Given the description of an element on the screen output the (x, y) to click on. 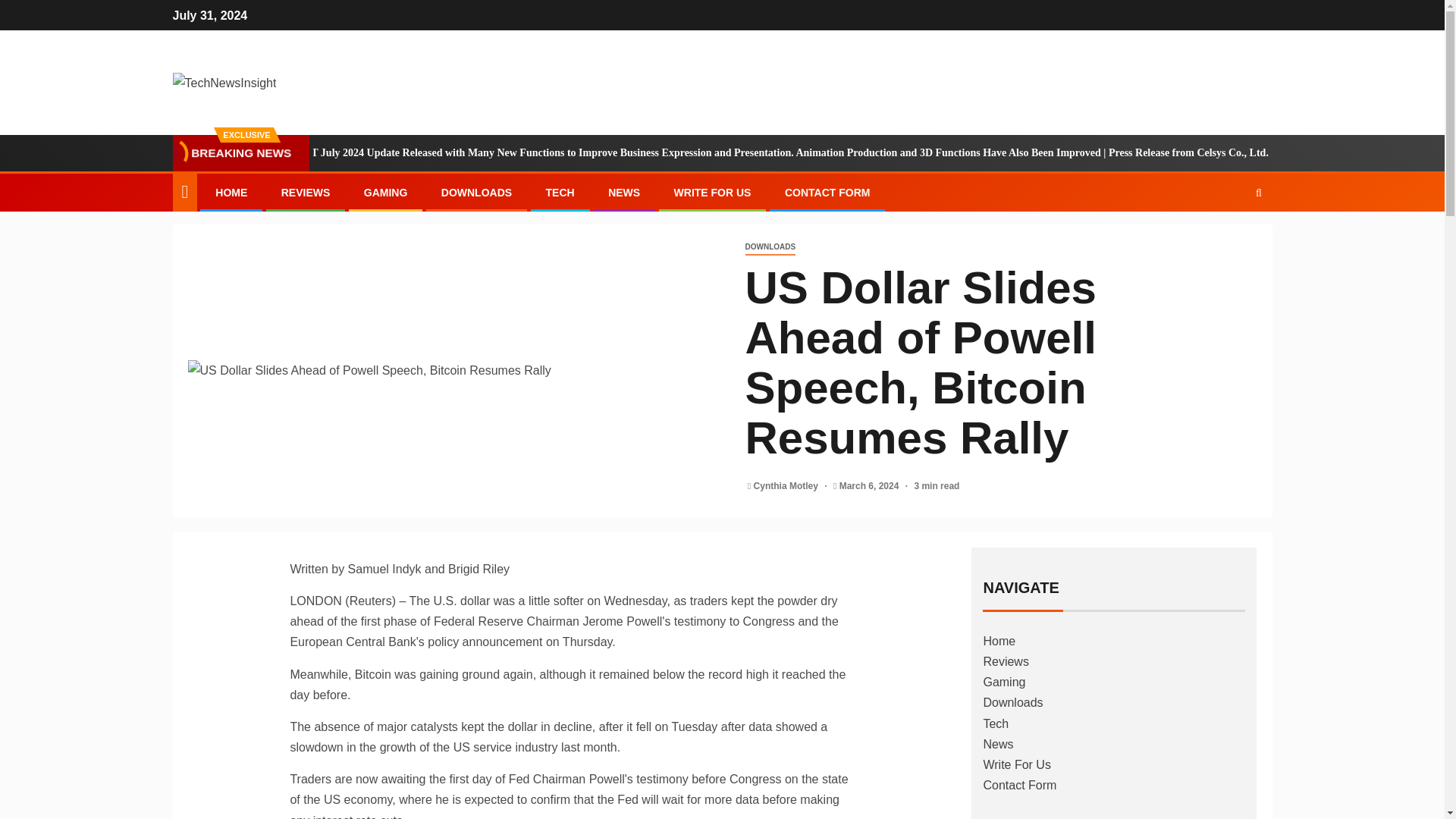
REVIEWS (305, 192)
Cynthia Motley (787, 485)
TECH (560, 192)
CONTACT FORM (827, 192)
WRITE FOR US (712, 192)
GAMING (385, 192)
DOWNLOADS (476, 192)
Search (1229, 238)
HOME (231, 192)
NEWS (624, 192)
Search (1258, 192)
DOWNLOADS (769, 247)
